Given the description of an element on the screen output the (x, y) to click on. 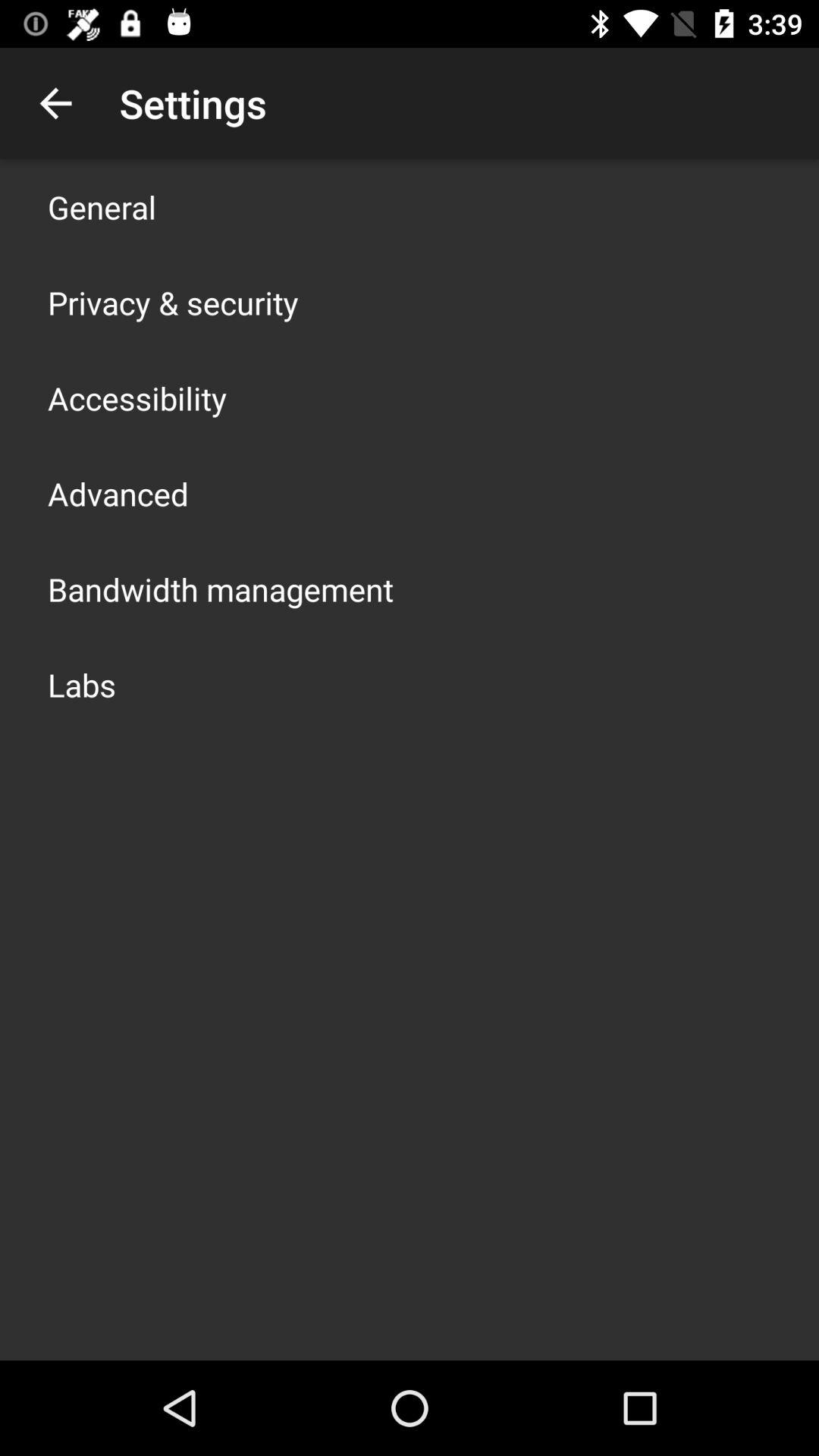
open the icon below the privacy & security (136, 397)
